Given the description of an element on the screen output the (x, y) to click on. 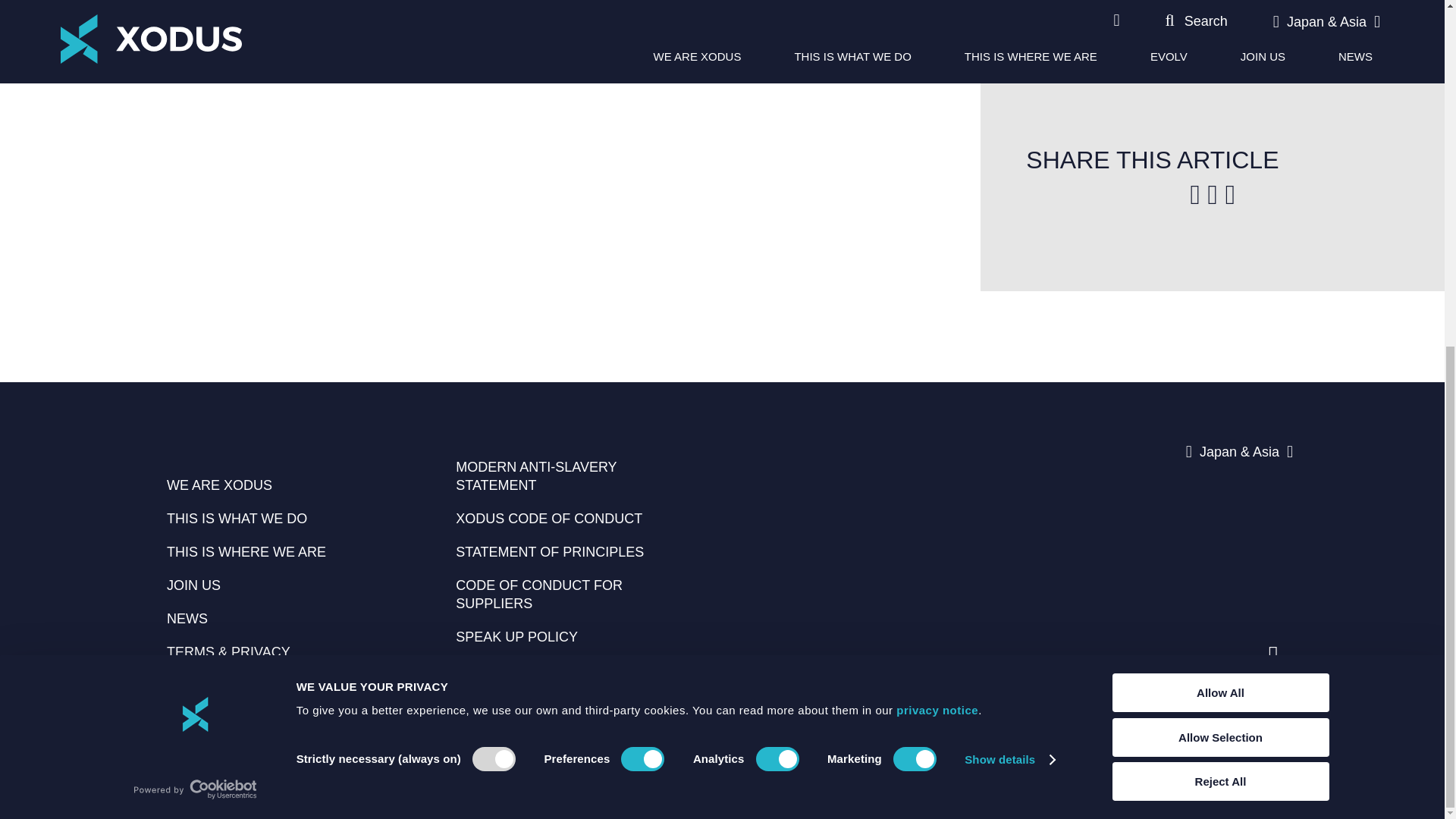
Show details (1008, 164)
privacy notice (937, 115)
privacy notice (937, 115)
Allow Selection (1219, 141)
Reject All (1219, 186)
